Given the description of an element on the screen output the (x, y) to click on. 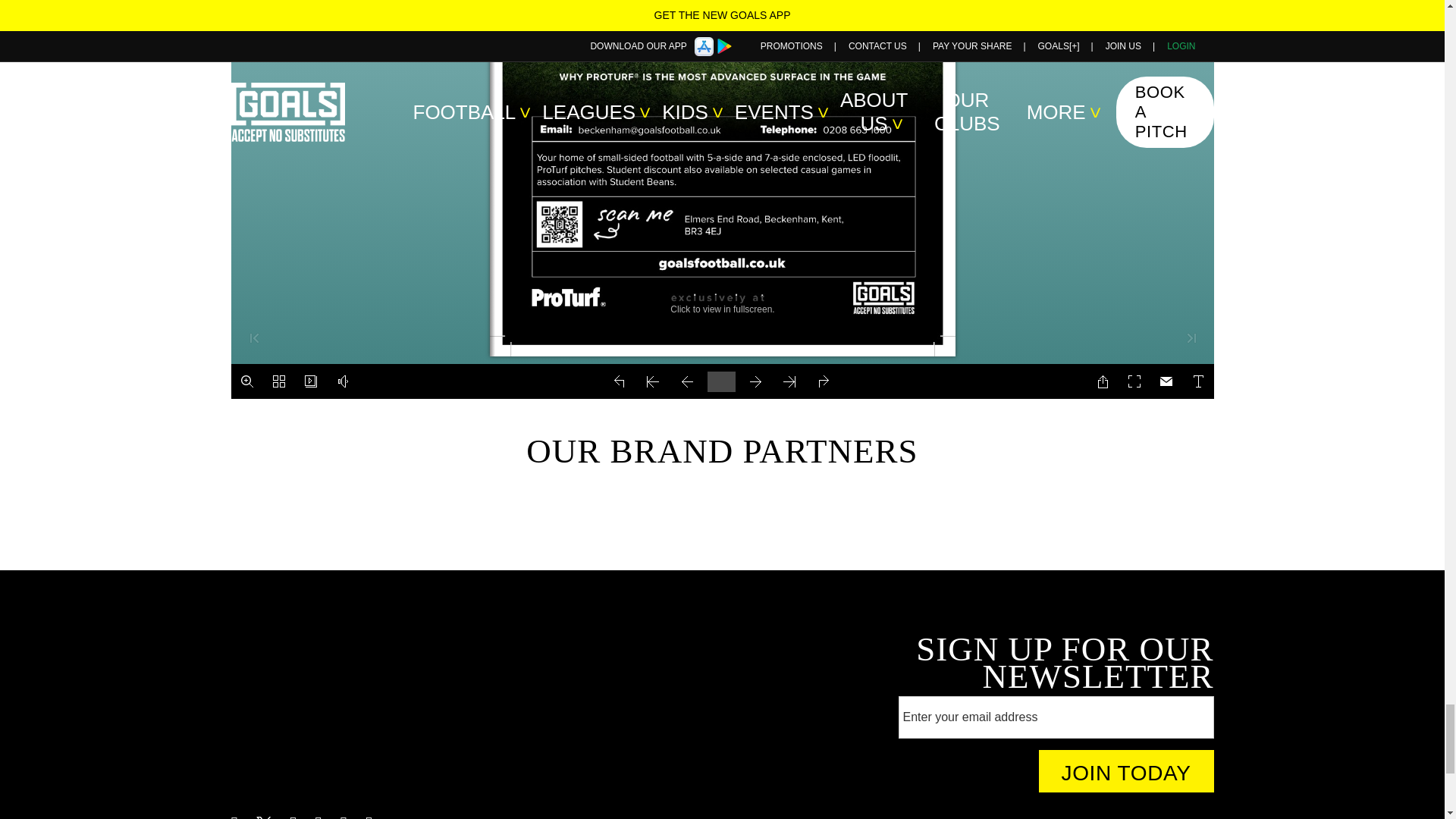
Join today (1126, 771)
